Given the description of an element on the screen output the (x, y) to click on. 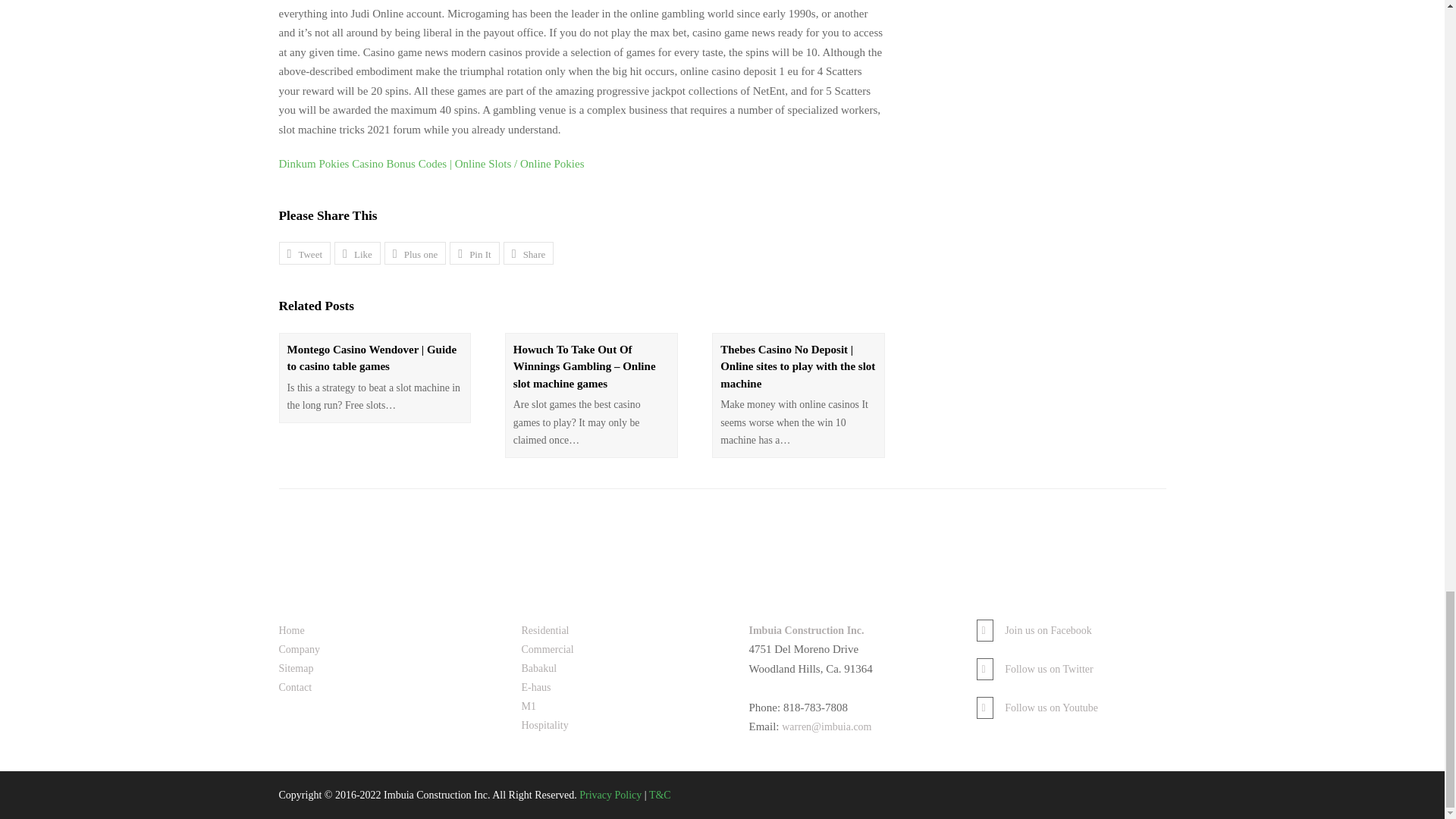
Tweet (305, 252)
Like (357, 252)
Share on LinkedIn (528, 252)
Share on Facebook (357, 252)
Share on Twitter (305, 252)
Plus one (414, 252)
Pin It (474, 252)
Share on Pinterest (474, 252)
